Given the description of an element on the screen output the (x, y) to click on. 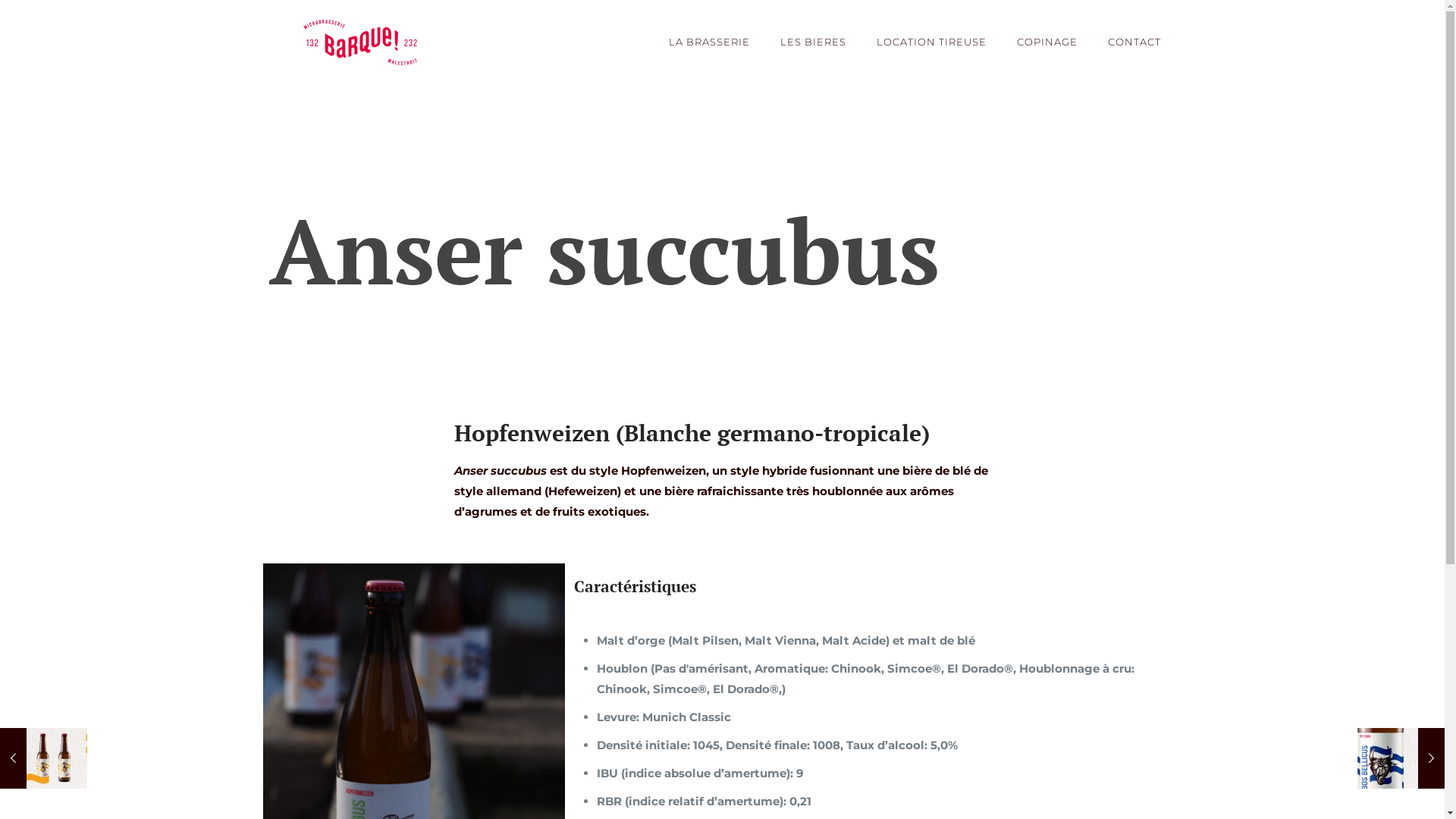
LA BRASSERIE Element type: text (709, 41)
COPINAGE Element type: text (1046, 41)
LOCATION TIREUSE Element type: text (931, 41)
LES BIERES Element type: text (813, 41)
Microbrasserie Barque Element type: hover (360, 41)
CONTACT Element type: text (1134, 41)
